Given the description of an element on the screen output the (x, y) to click on. 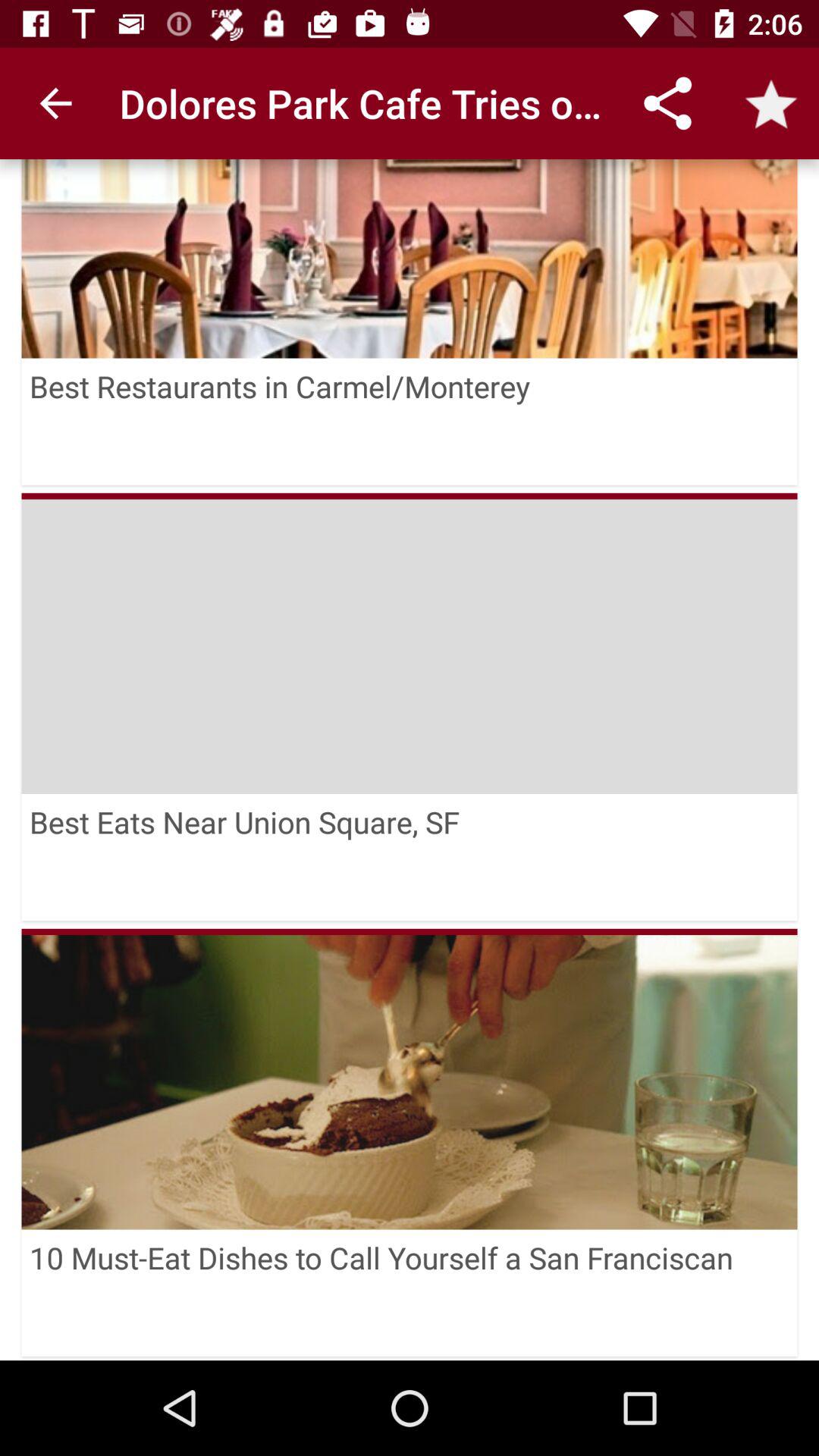
swipe until the 10 must eat (409, 1292)
